Given the description of an element on the screen output the (x, y) to click on. 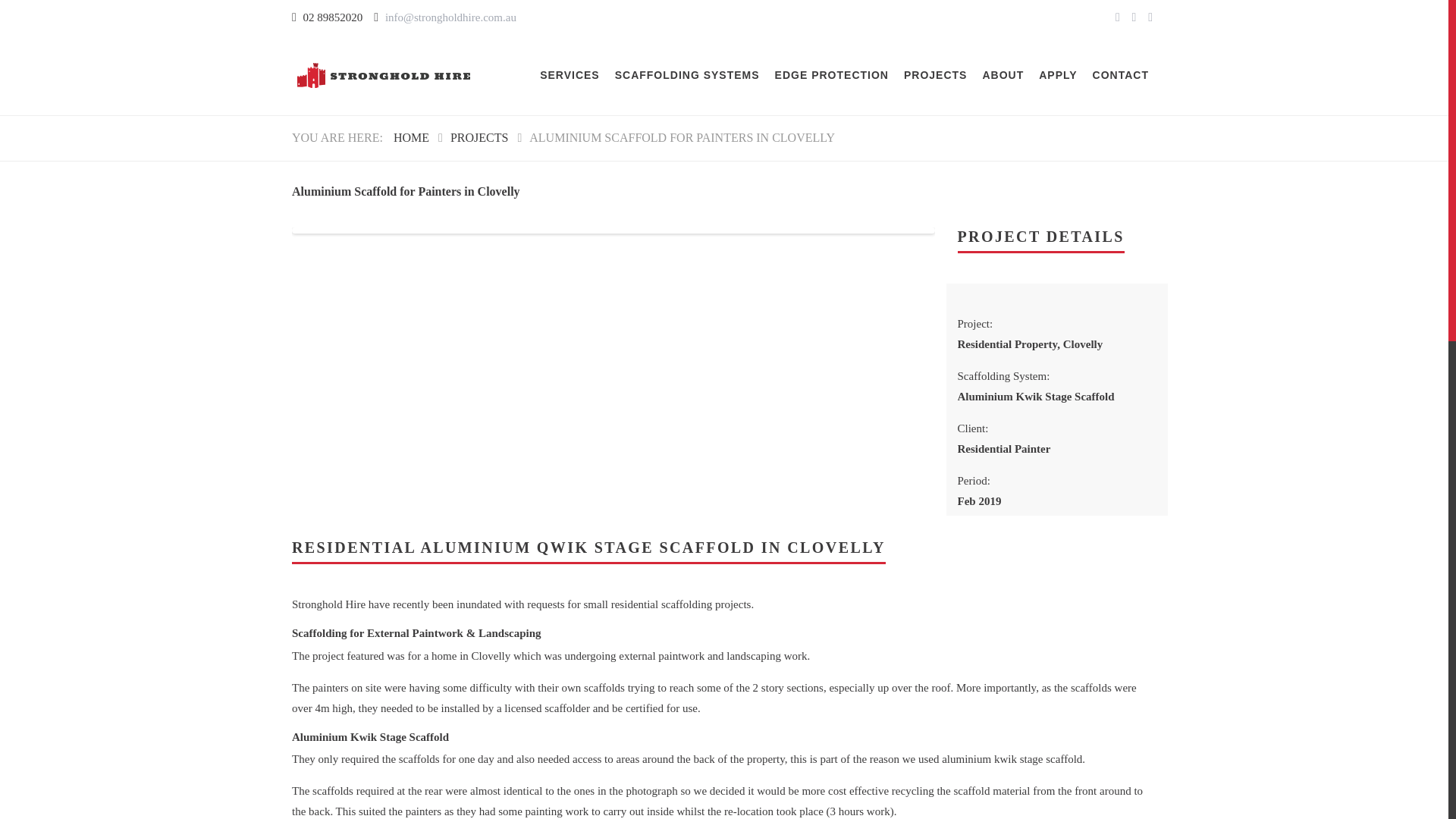
Edge Protection Rental Sydney (831, 75)
HOME (411, 137)
EDGE PROTECTION (831, 75)
SCAFFOLDING SYSTEMS (687, 75)
Scaffolding Systems Sydney (687, 75)
PROJECTS (478, 137)
